Given the description of an element on the screen output the (x, y) to click on. 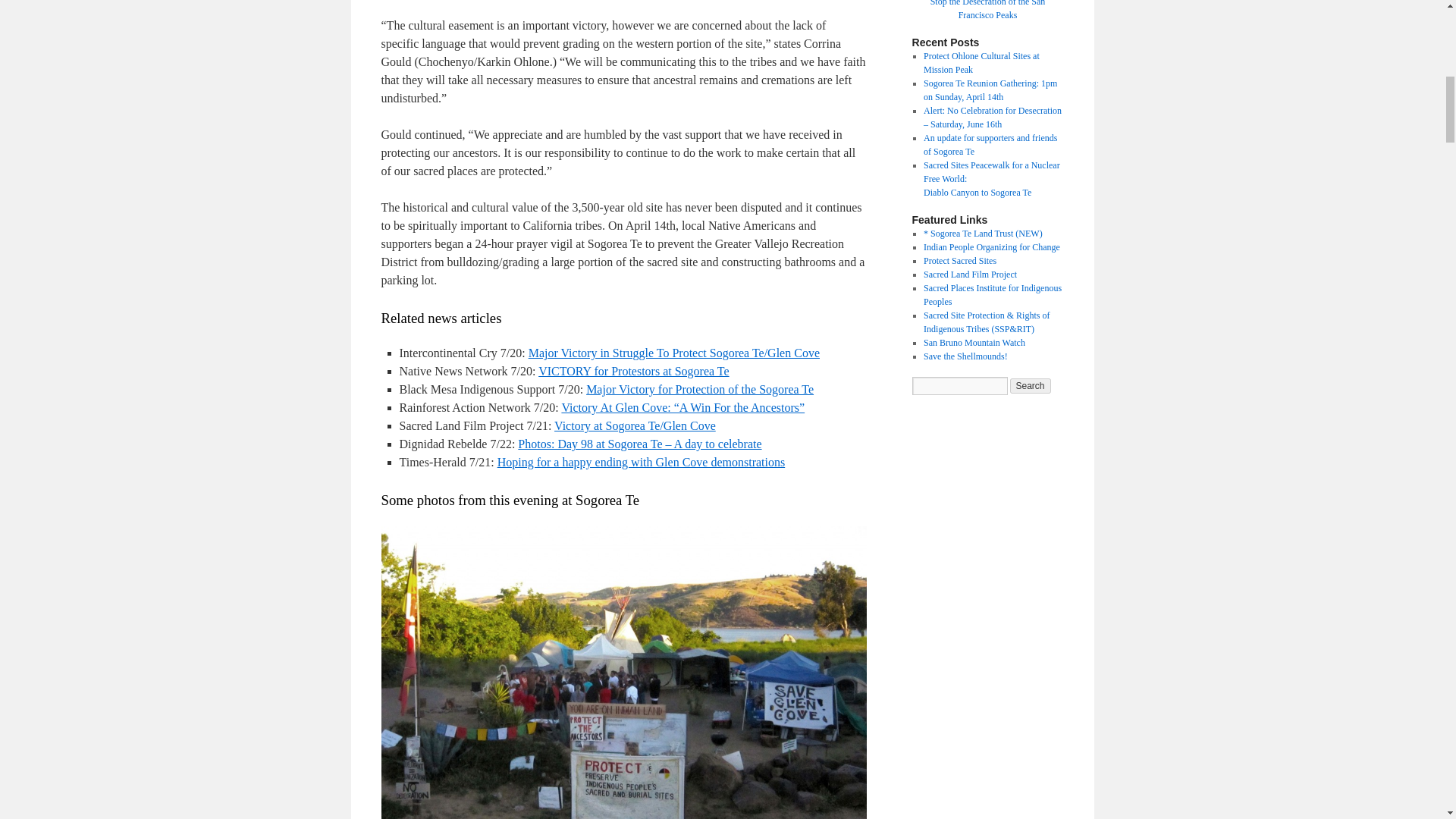
Search (1030, 385)
VICTORY for Protestors at Sogorea Te (633, 370)
Hoping for a happy ending with Glen Cove demonstrations (641, 461)
Major Victory for Protection of the Sogorea Te (699, 389)
